Given the description of an element on the screen output the (x, y) to click on. 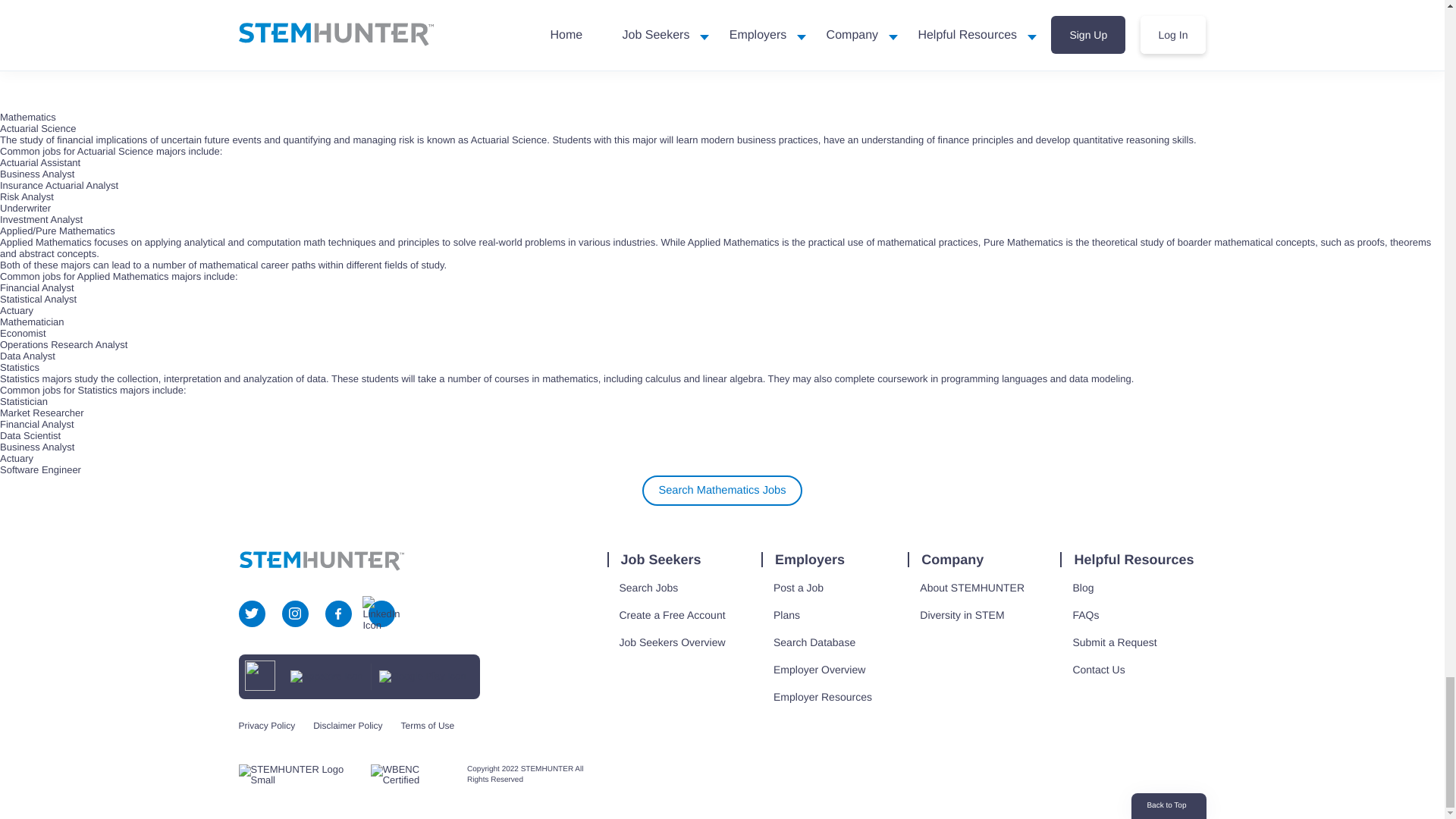
Search Engineering Jobs (721, 20)
Download the STEMHUNTER App on the Play Store (421, 676)
Follow STEMHUNTER on Twitter (251, 613)
Download the STEMHUNTER App on the Appstore (325, 676)
Follow STEMHUNTER on Instagram (294, 613)
Search Mathematics Jobs (722, 490)
Follow STEMHUNTER on LinkedIn (380, 613)
